Given the description of an element on the screen output the (x, y) to click on. 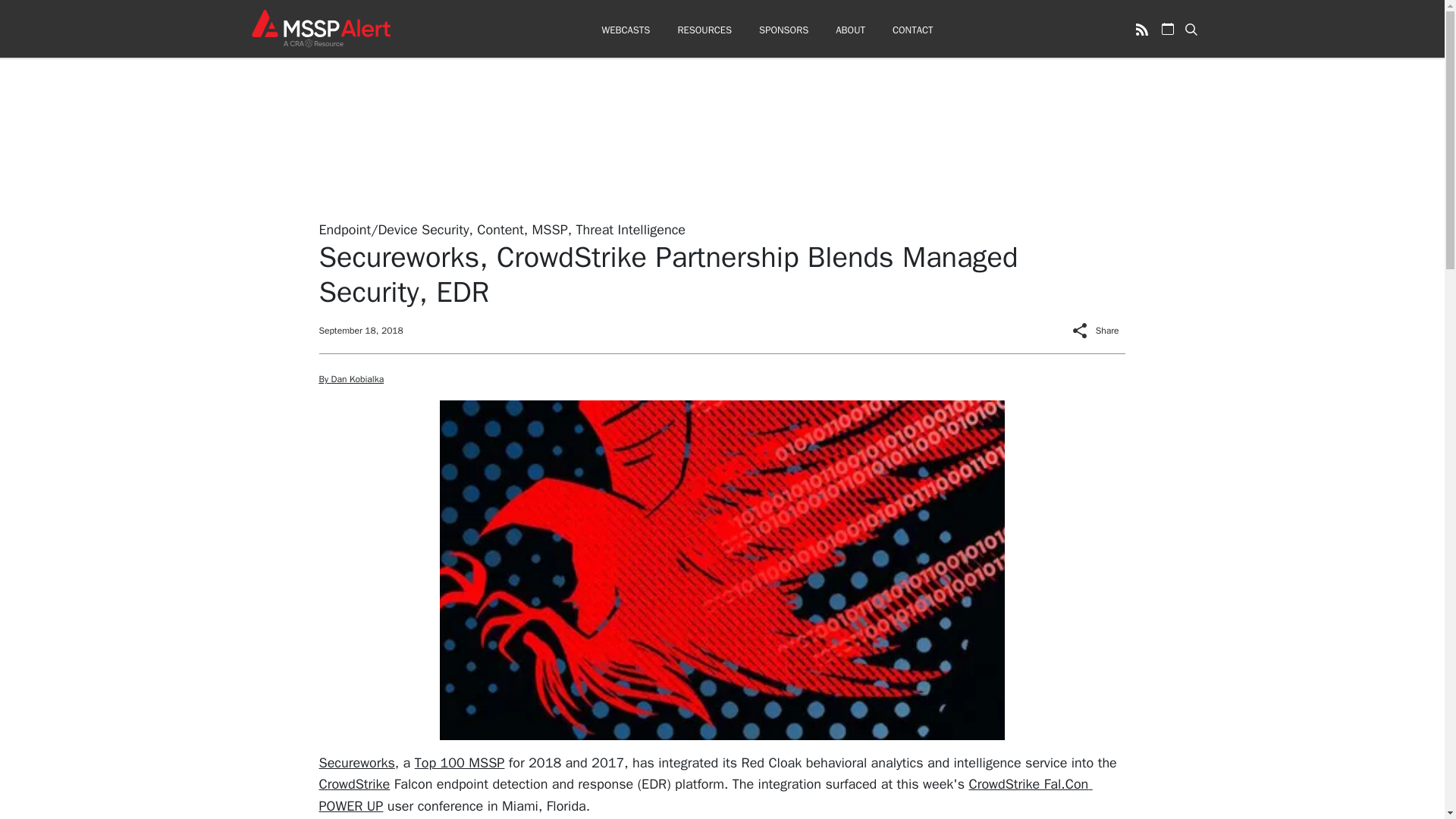
CrowdStrike (354, 783)
ABOUT (849, 30)
Top 100 MSSP (459, 761)
MSSP Alert (319, 27)
WEBCASTS (625, 30)
Content (499, 229)
SPONSORS (783, 30)
RESOURCES (704, 30)
CONTACT (912, 30)
View Cybersecurity Conference Calendar (1167, 28)
